Given the description of an element on the screen output the (x, y) to click on. 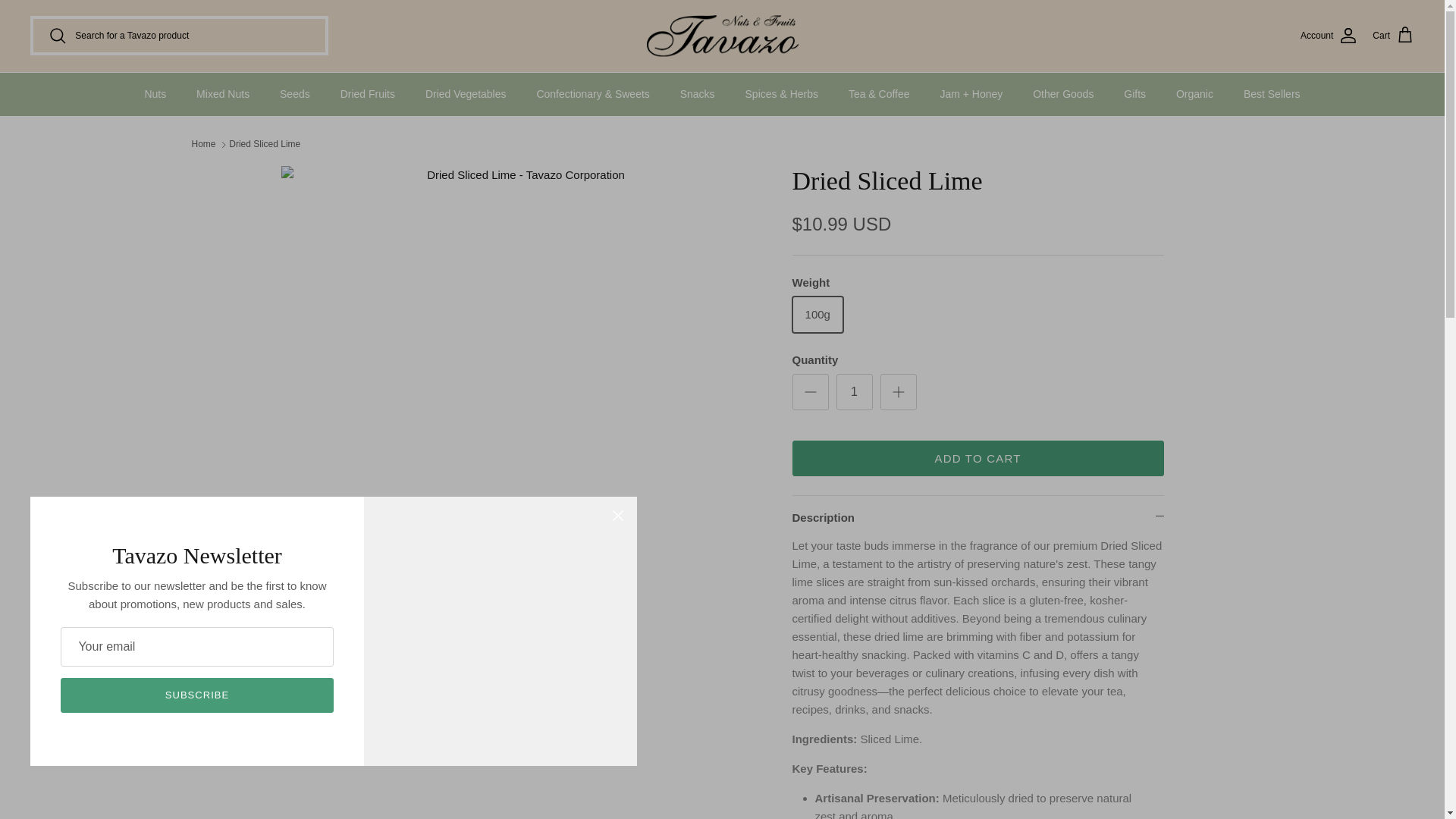
Cart (1393, 35)
Account (1328, 35)
Nuts (155, 94)
1 (853, 391)
Minus (809, 392)
Search for a Tavazo product (179, 35)
Tavazo (721, 35)
Plus (897, 392)
